Given the description of an element on the screen output the (x, y) to click on. 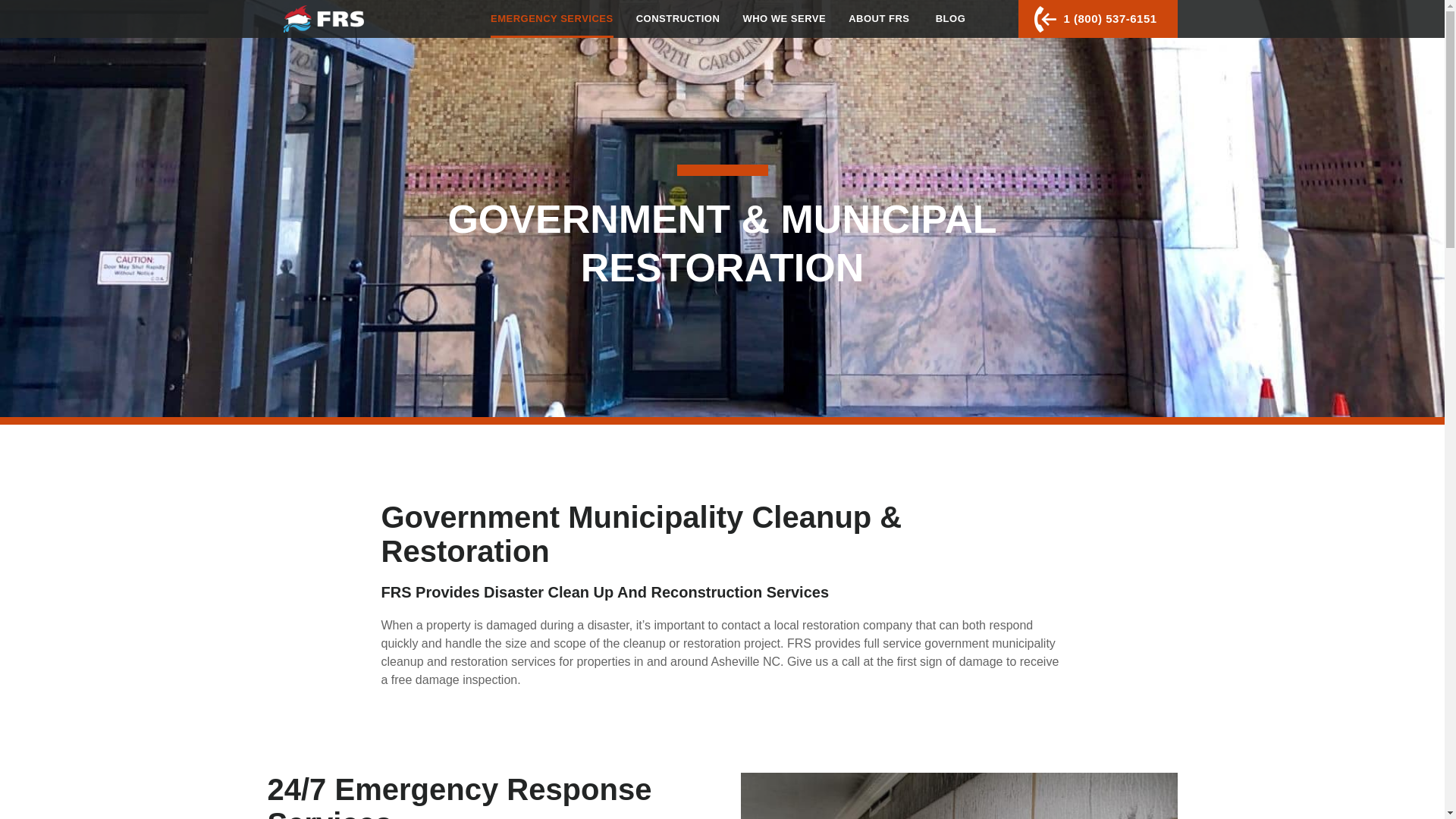
First Restoration Services (323, 18)
